Given the description of an element on the screen output the (x, y) to click on. 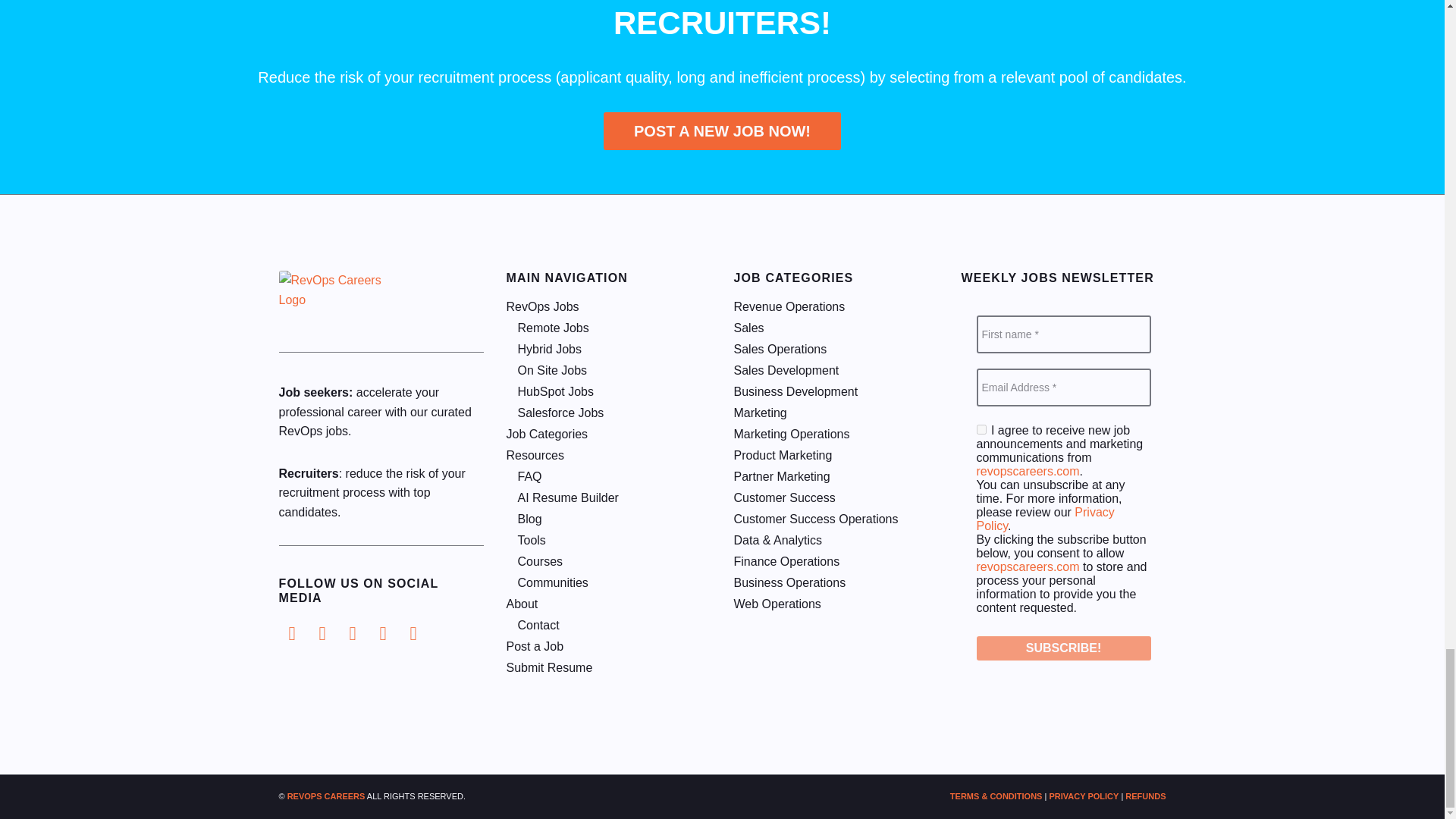
Email Address (1063, 387)
First name (1063, 333)
SUBSCRIBE! (1063, 648)
1 (981, 429)
